Given the description of an element on the screen output the (x, y) to click on. 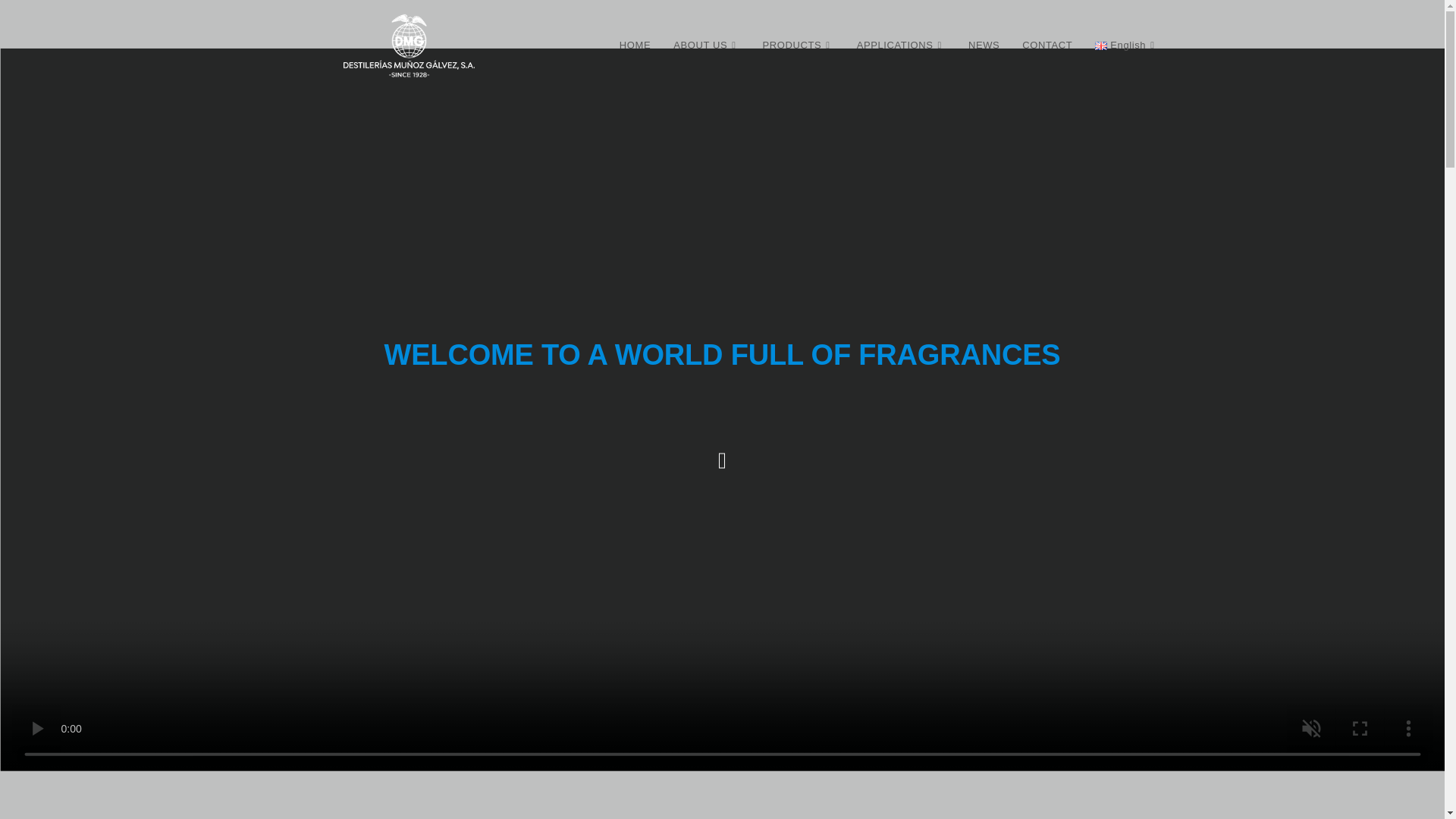
APPLICATIONS (900, 45)
ABOUT US (706, 45)
English (1126, 45)
PRODUCTS (798, 45)
